Given the description of an element on the screen output the (x, y) to click on. 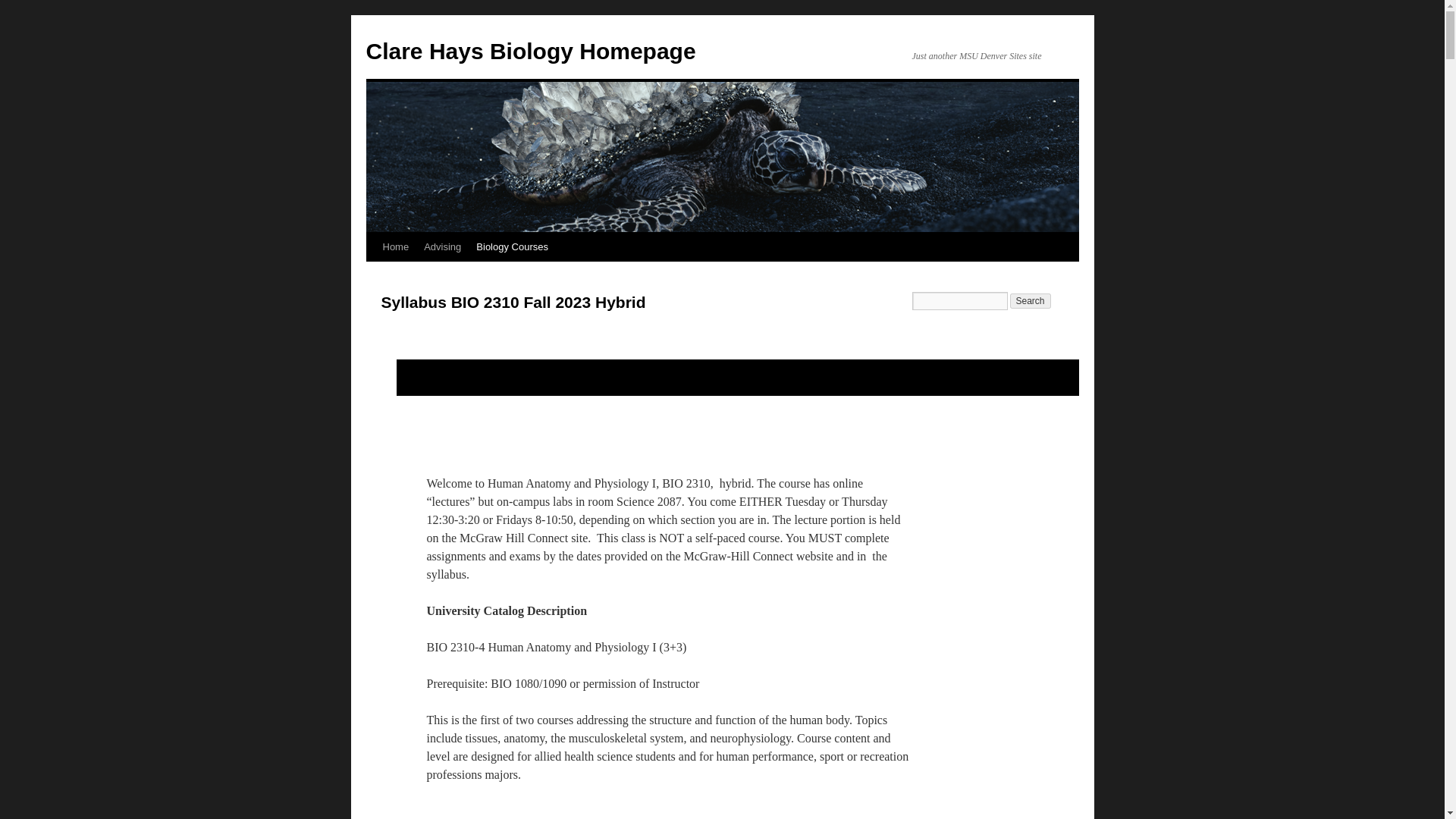
Search (1030, 300)
Advising (442, 246)
Clare Hays Biology Homepage (530, 50)
Home (395, 246)
Biology Courses (512, 246)
